Given the description of an element on the screen output the (x, y) to click on. 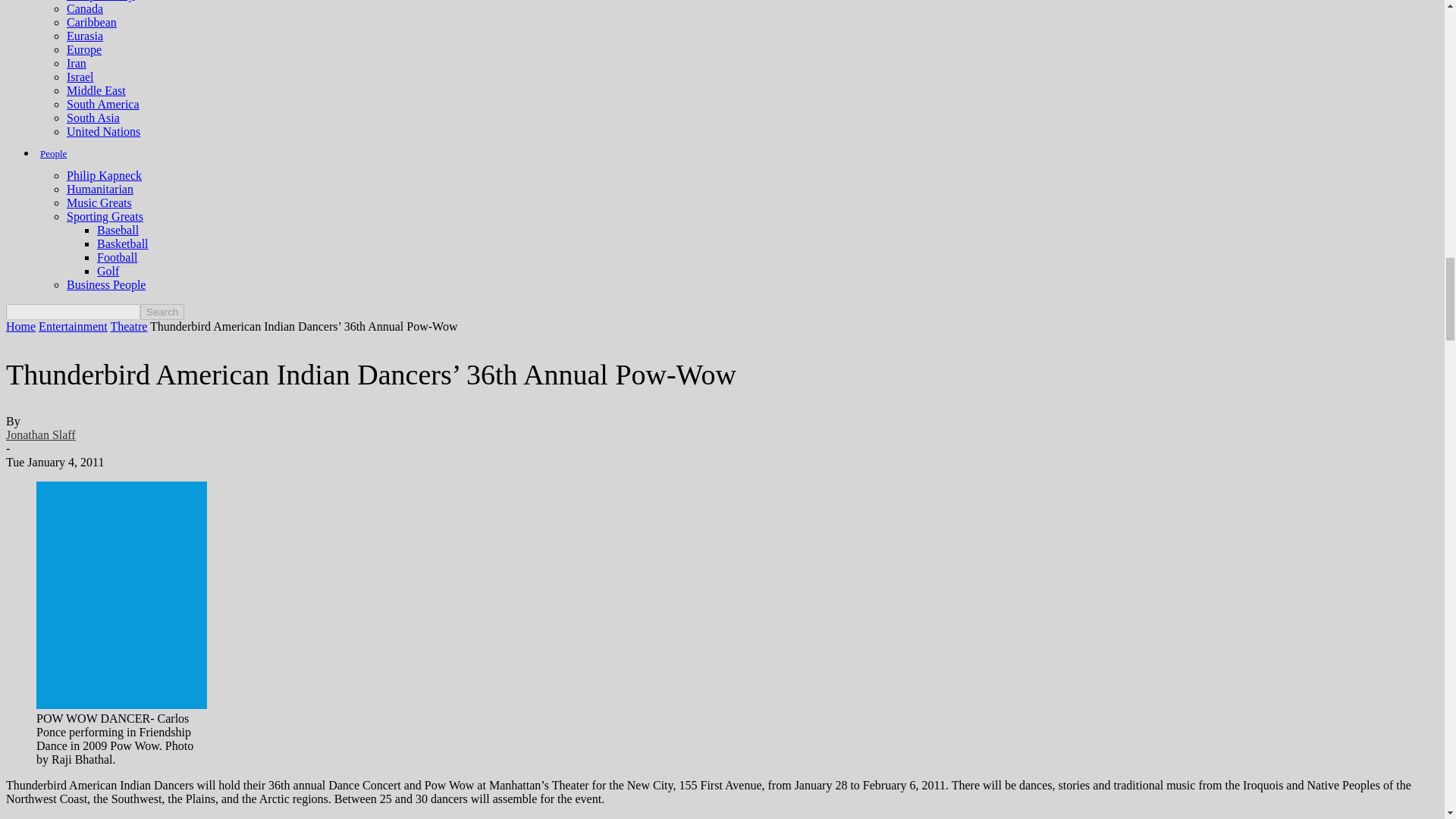
View all posts in Theatre (128, 326)
View all posts in Entertainment (73, 326)
Search (161, 311)
